Given the description of an element on the screen output the (x, y) to click on. 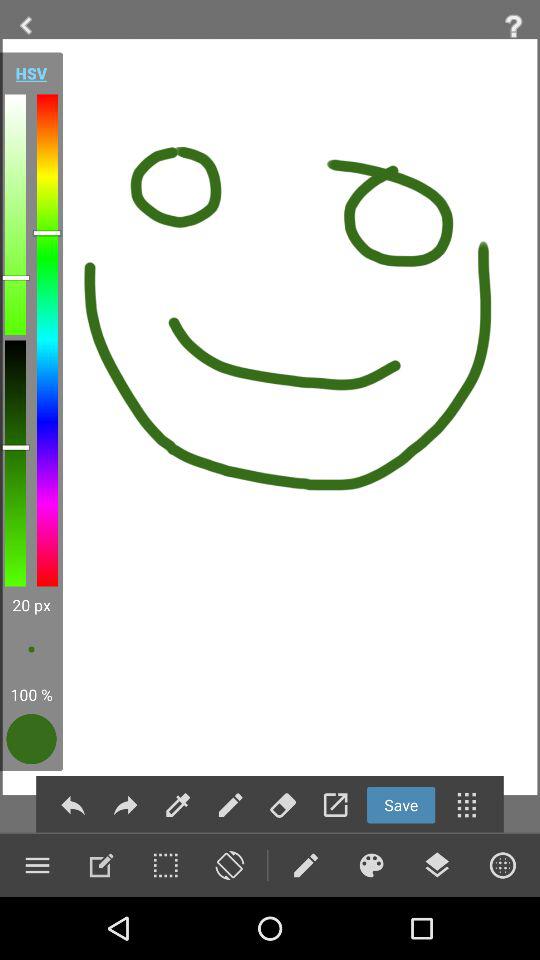
arisar (282, 804)
